Given the description of an element on the screen output the (x, y) to click on. 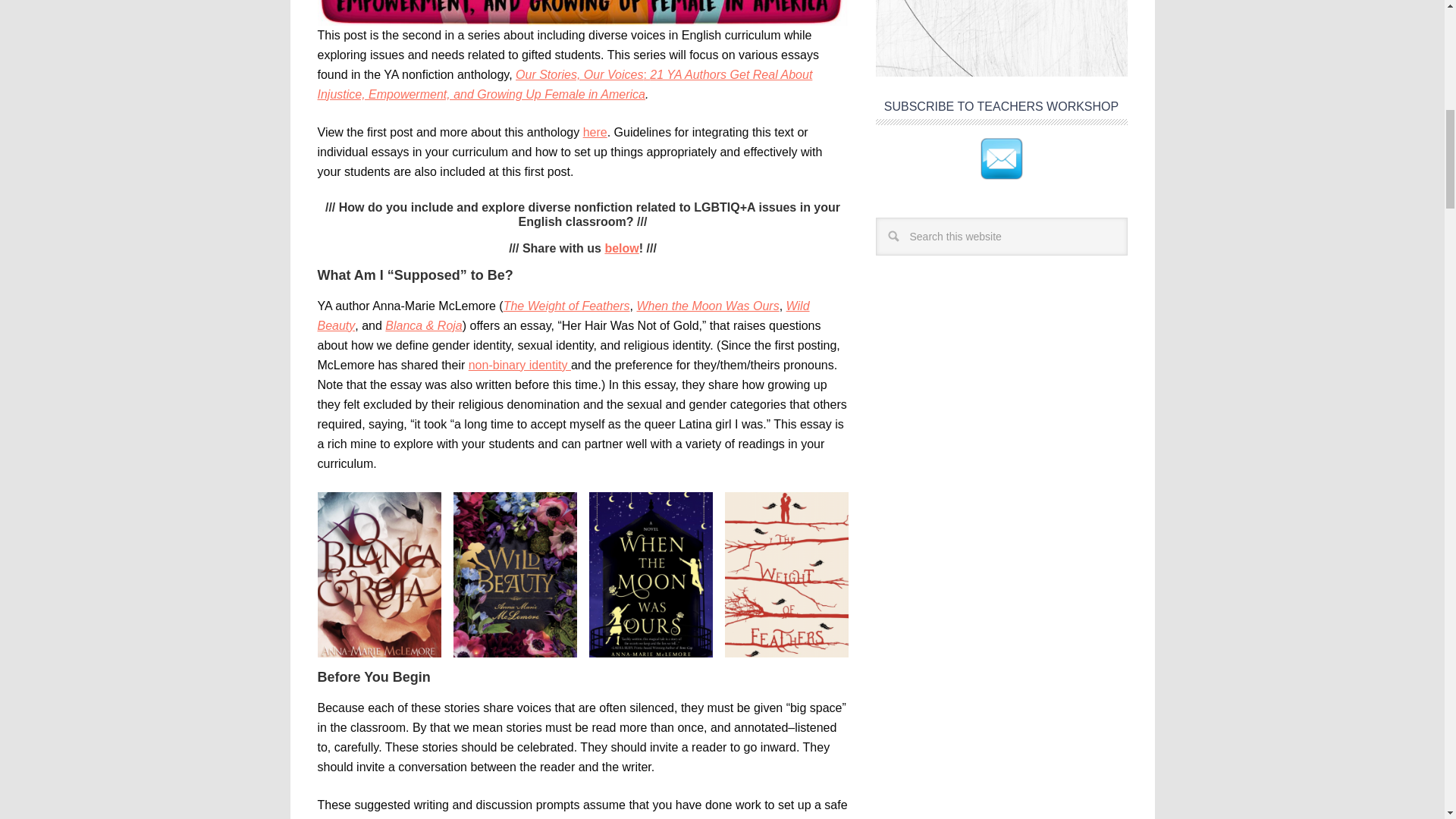
non-binary identity (519, 364)
When the Moon Was Ours (707, 305)
Our Stories, Our Voices (579, 74)
below (621, 247)
here (595, 132)
The Weight of Feathers (566, 305)
:  (646, 74)
Wild Beauty (563, 315)
